Given the description of an element on the screen output the (x, y) to click on. 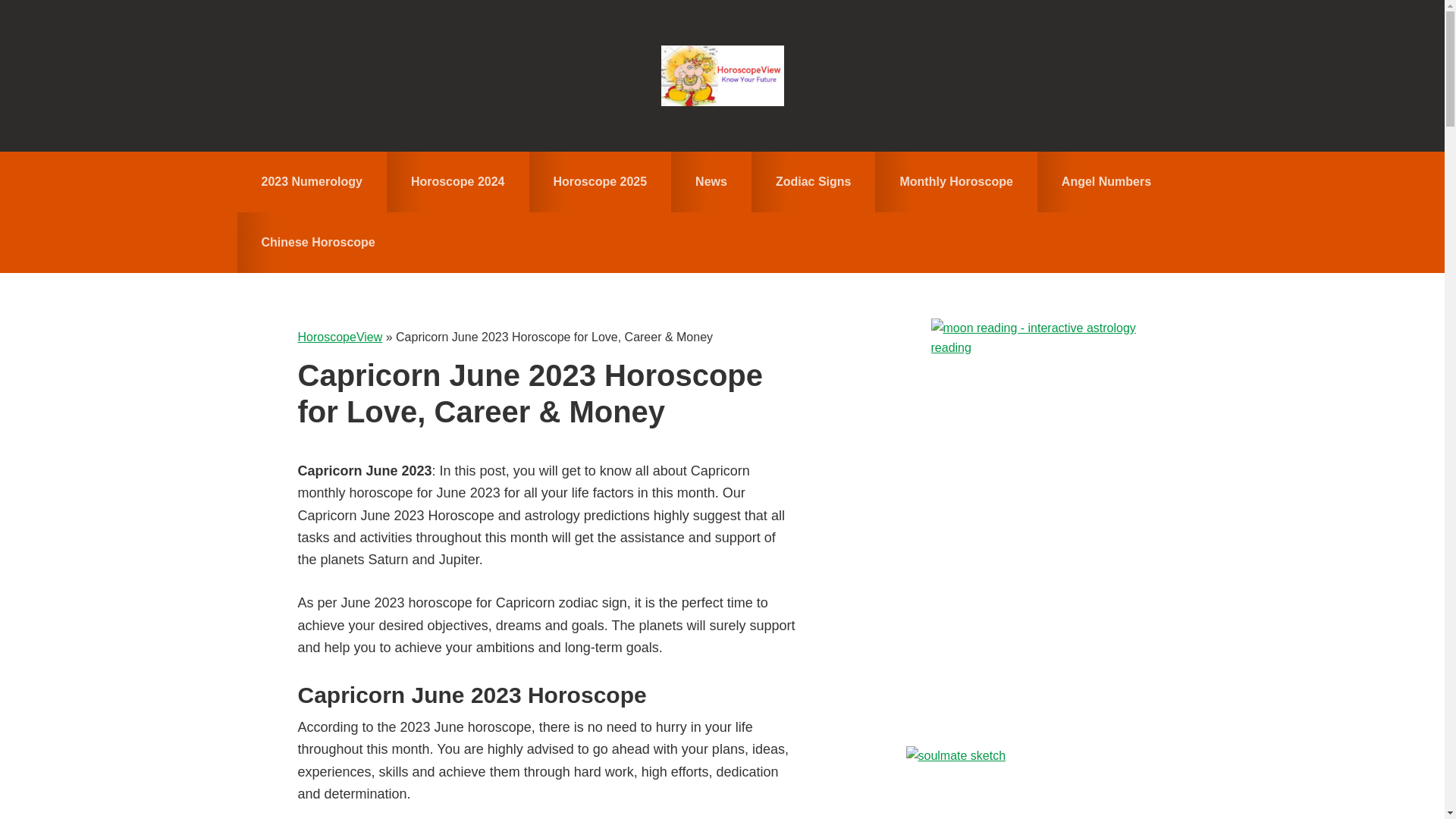
Angel Numbers (1105, 181)
Monthly Horoscope (955, 181)
Zodiac Signs (813, 181)
HoroscopeView (722, 75)
HoroscopeView (339, 336)
2023 Numerology (310, 181)
Chinese Horoscope (316, 242)
Horoscope 2024 (458, 181)
News (711, 181)
